Given the description of an element on the screen output the (x, y) to click on. 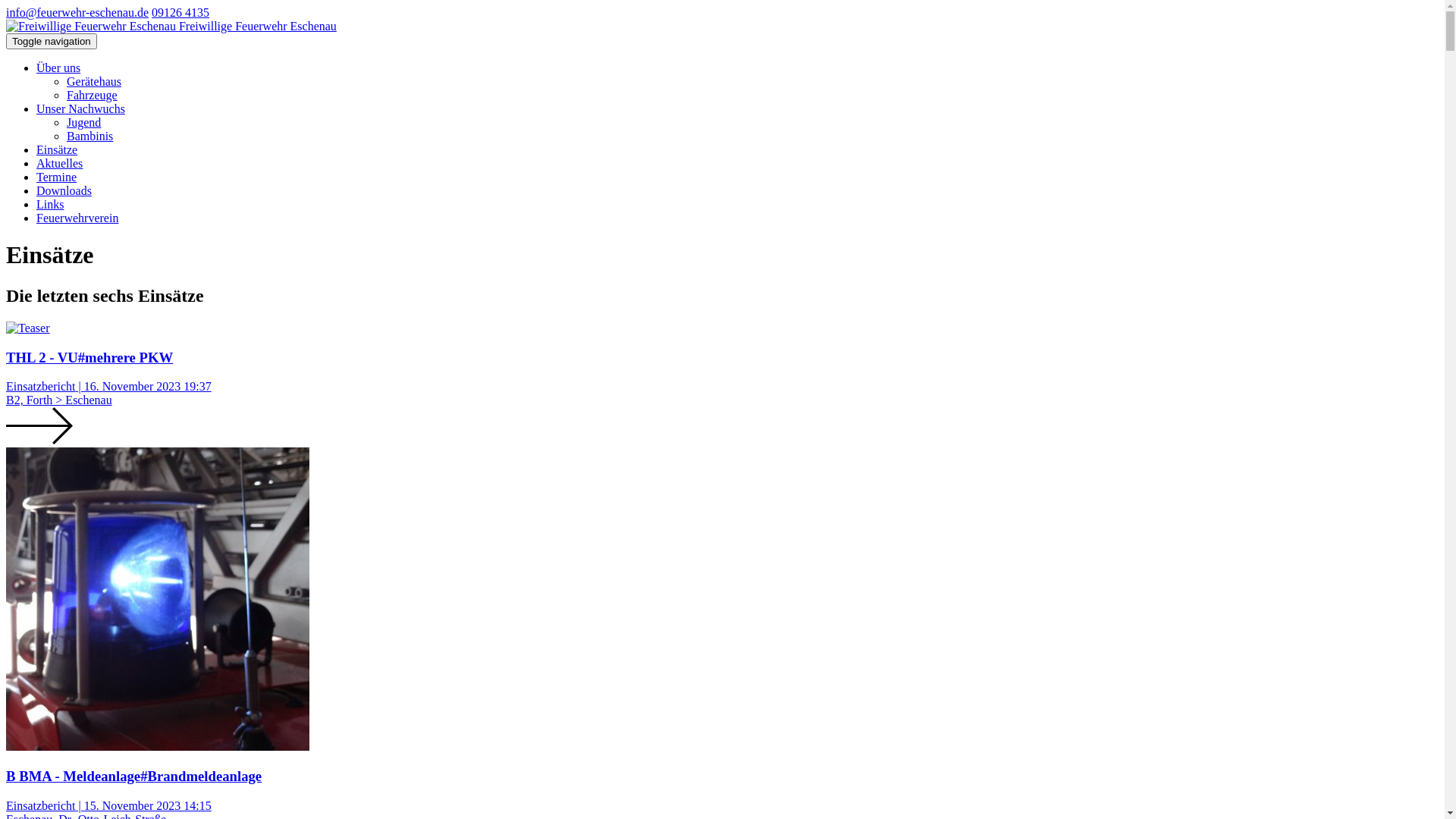
Termine Element type: text (56, 176)
Freiwillige Feuerwehr Eschenau Element type: hover (90, 26)
Aktuelles Element type: text (59, 162)
Downloads Element type: text (63, 190)
Toggle navigation Element type: text (51, 41)
info@feuerwehr-eschenau.de Element type: text (77, 12)
Jugend Element type: text (83, 122)
Bambinis Element type: text (89, 135)
Links Element type: text (49, 203)
Feuerwehrverein Element type: text (77, 217)
Freiwillige Feuerwehr Eschenau Element type: text (171, 25)
Fahrzeuge Element type: text (91, 94)
09126 4135 Element type: text (180, 12)
Unser Nachwuchs Element type: text (80, 108)
Mehr dazu Element type: hover (39, 425)
